Given the description of an element on the screen output the (x, y) to click on. 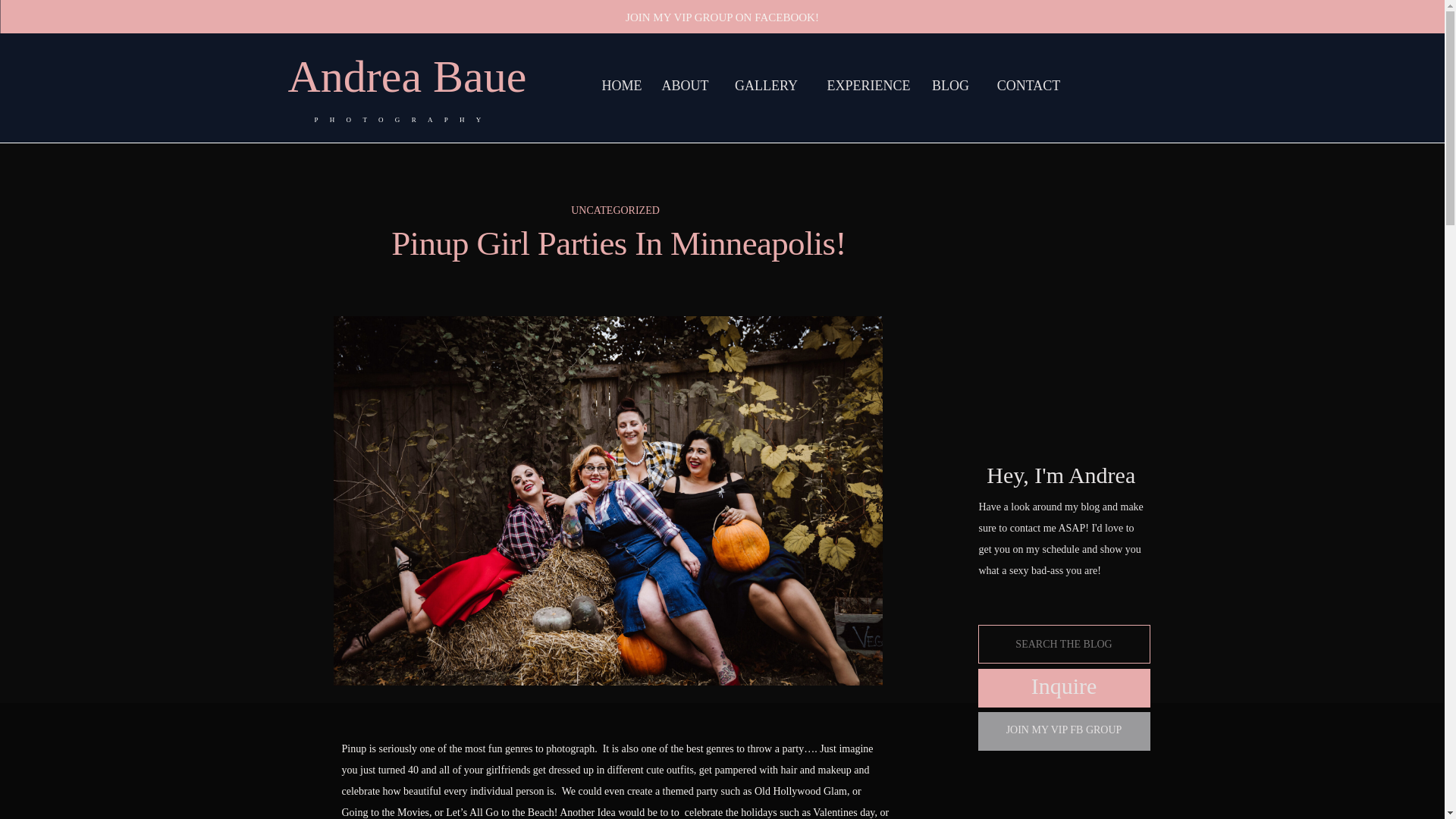
JOIN MY VIP GROUP ON FACEBOOK! (722, 18)
ABOUT (685, 86)
Andrea Baue (424, 76)
HOME (620, 86)
EXPERIENCE (868, 86)
JOIN MY VIP FB GROUP (1064, 729)
Inquire (1064, 687)
BLOG (950, 86)
GALLERY (765, 86)
UNCATEGORIZED (614, 210)
CONTACT (1028, 86)
